Given the description of an element on the screen output the (x, y) to click on. 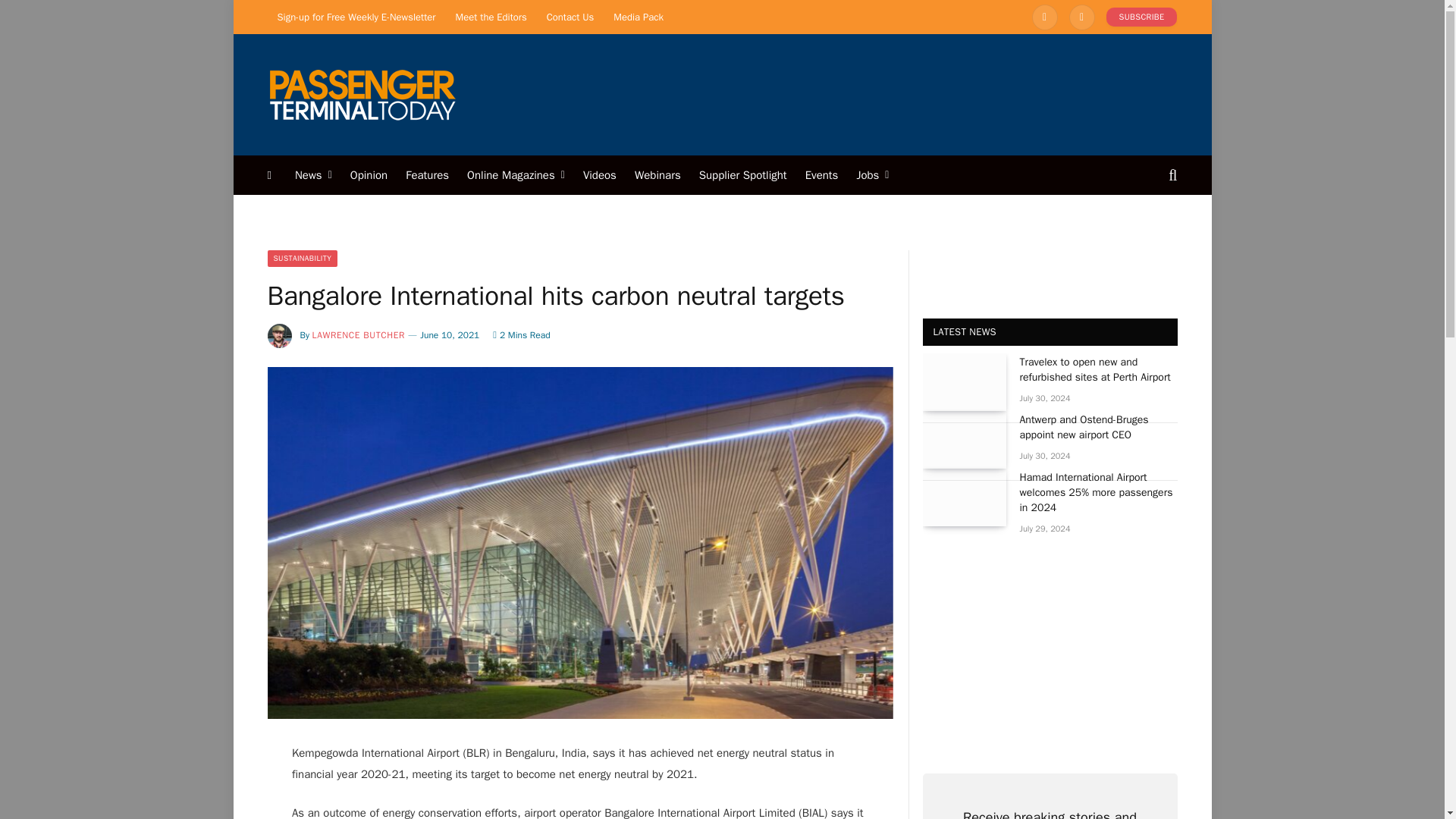
Posts by Lawrence Butcher (359, 335)
Passenger Terminal Today (361, 94)
